Given the description of an element on the screen output the (x, y) to click on. 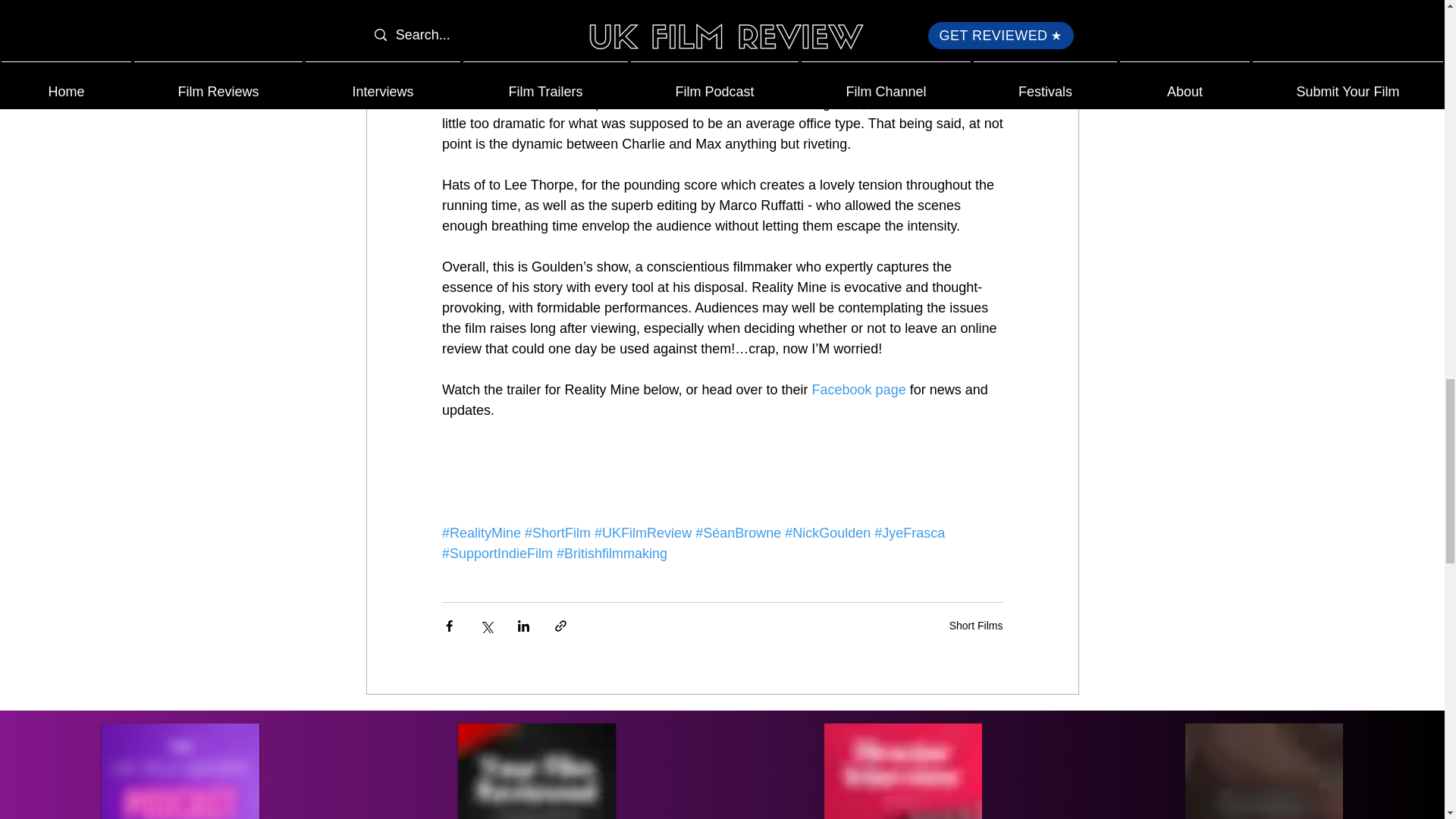
Video Film Reviews (1263, 771)
Filmmaker Interviews UK (902, 771)
The UK Film Review Podcast - artwork (180, 771)
Film Podcast Reviews (536, 771)
